Given the description of an element on the screen output the (x, y) to click on. 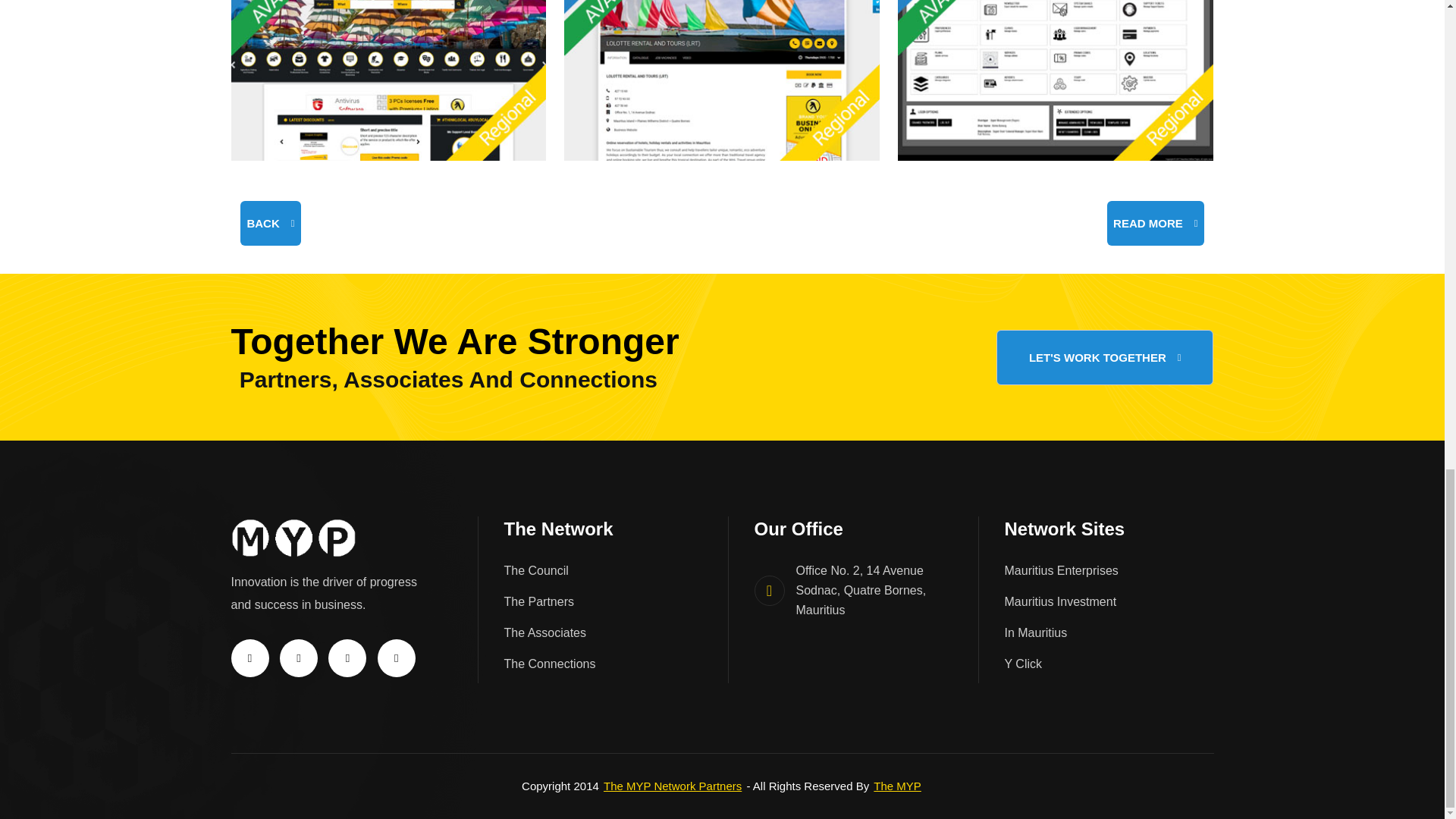
LET'S WORK TOGETHER (1104, 357)
READ MORE (1155, 222)
BACK (269, 222)
